Given the description of an element on the screen output the (x, y) to click on. 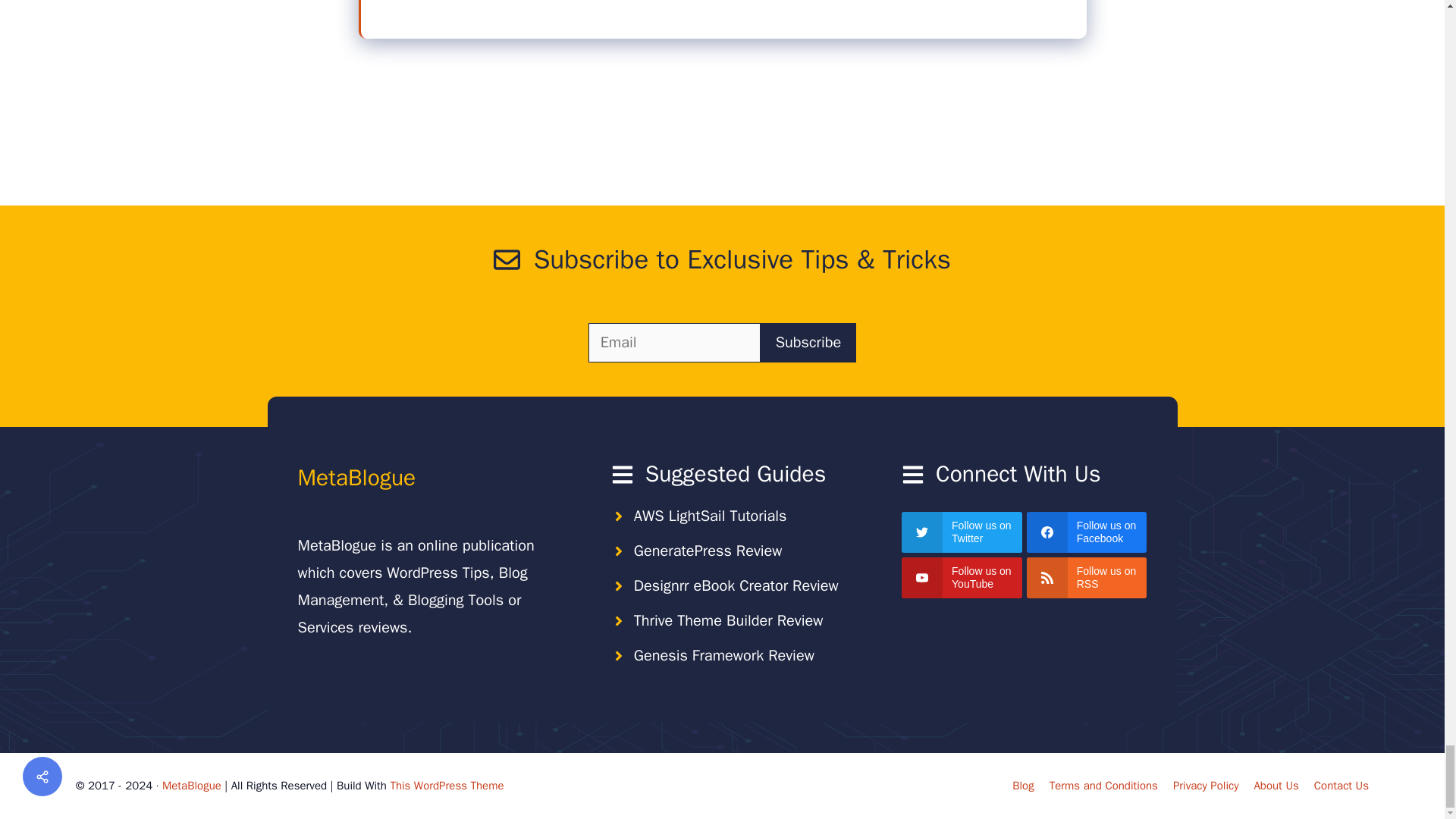
Subscribe (808, 342)
